Given the description of an element on the screen output the (x, y) to click on. 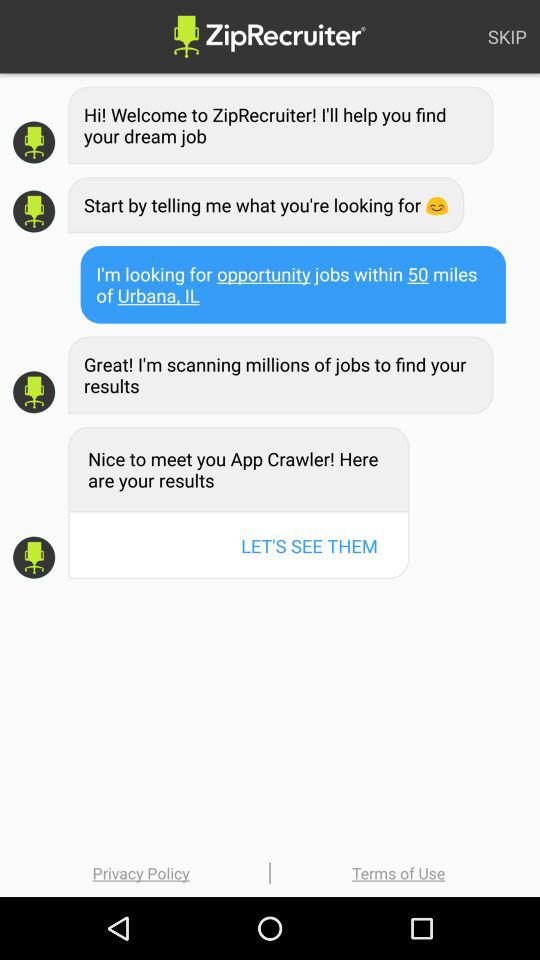
swipe until the skip (507, 36)
